Given the description of an element on the screen output the (x, y) to click on. 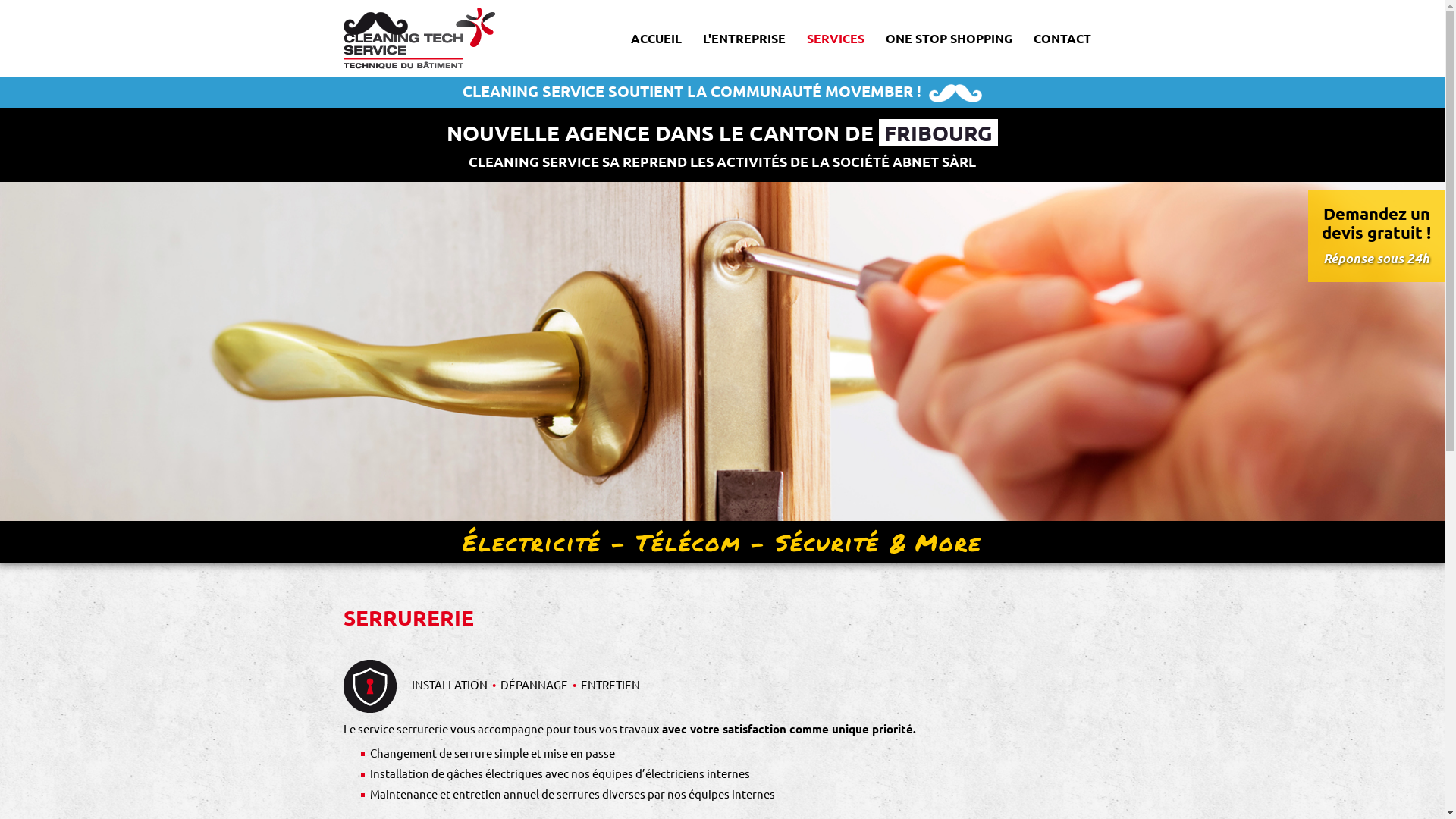
ONE STOP SHOPPING Element type: text (948, 37)
ACCUEIL Element type: text (655, 37)
Demandez un devis gratuit ! Element type: text (1375, 222)
CONTACT Element type: text (1061, 37)
L'ENTREPRISE Element type: text (743, 37)
SERVICES Element type: text (835, 37)
